Given the description of an element on the screen output the (x, y) to click on. 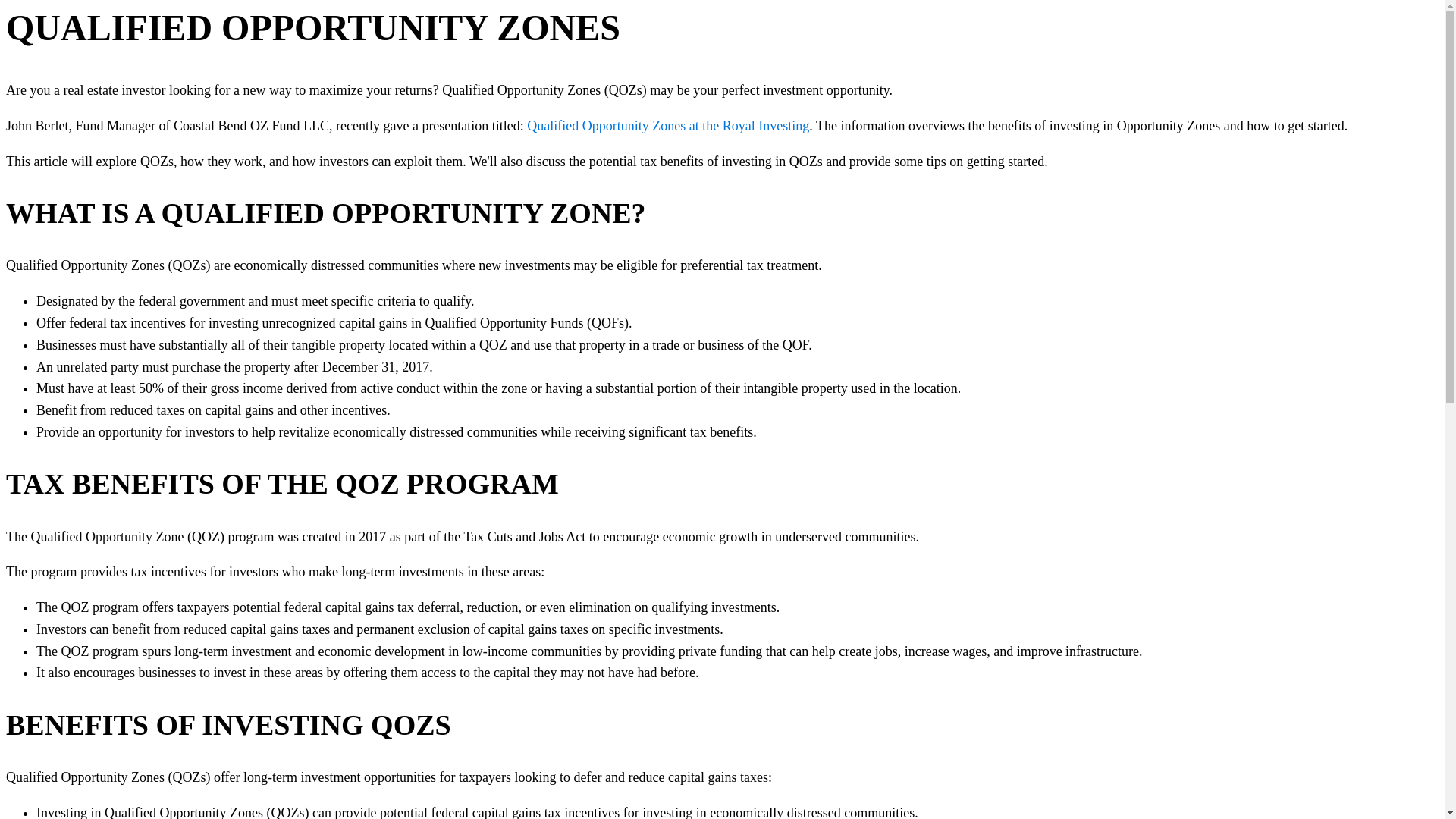
Qualified Opportunity Zones at the Royal Investing (668, 125)
